Given the description of an element on the screen output the (x, y) to click on. 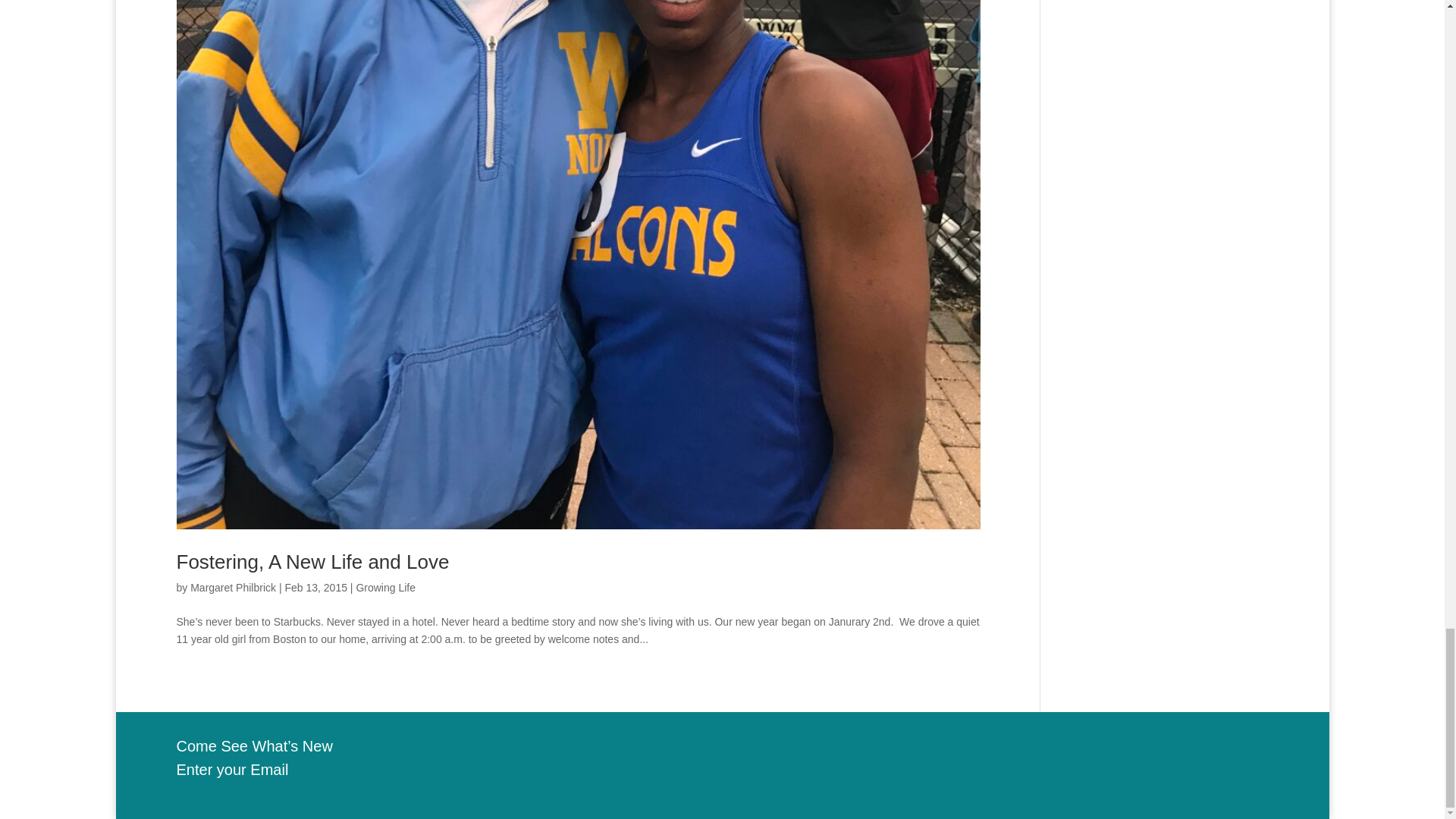
Posts by Margaret Philbrick (233, 587)
